Given the description of an element on the screen output the (x, y) to click on. 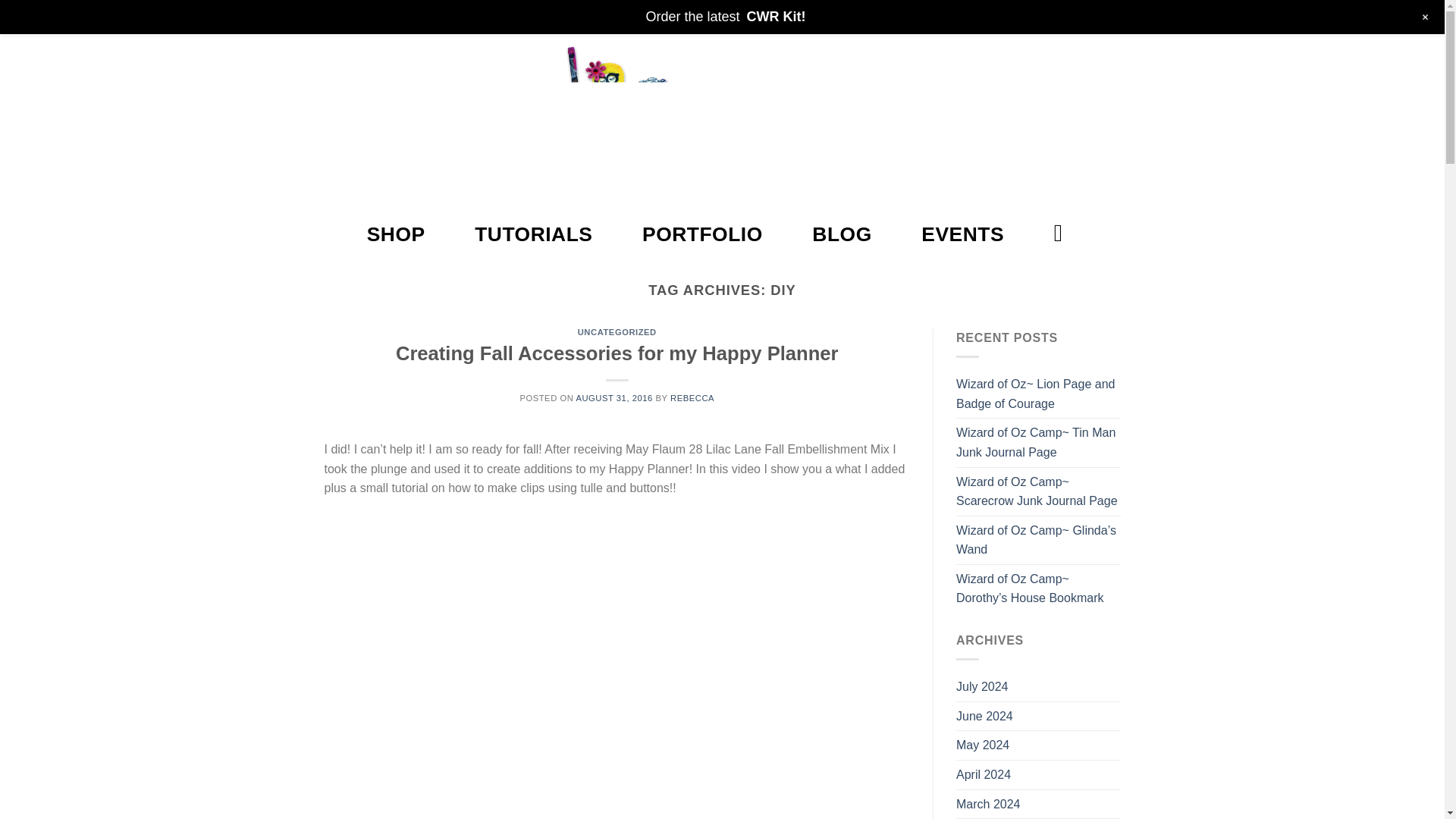
PORTFOLIO (702, 234)
Follow on Instagram (357, 14)
UNCATEGORIZED (617, 331)
Create with Rebecca - Create with Rebecca (722, 120)
REBECCA (691, 397)
AUGUST 31, 2016 (613, 397)
Follow on YouTube (400, 14)
BLOG (841, 234)
Creating Fall Accessories for my Happy Planner (617, 353)
TUTORIALS (533, 234)
July 2024 (982, 686)
Connect (1049, 15)
Follow on Facebook (335, 14)
SHOP (396, 234)
EVENTS (963, 234)
